Given the description of an element on the screen output the (x, y) to click on. 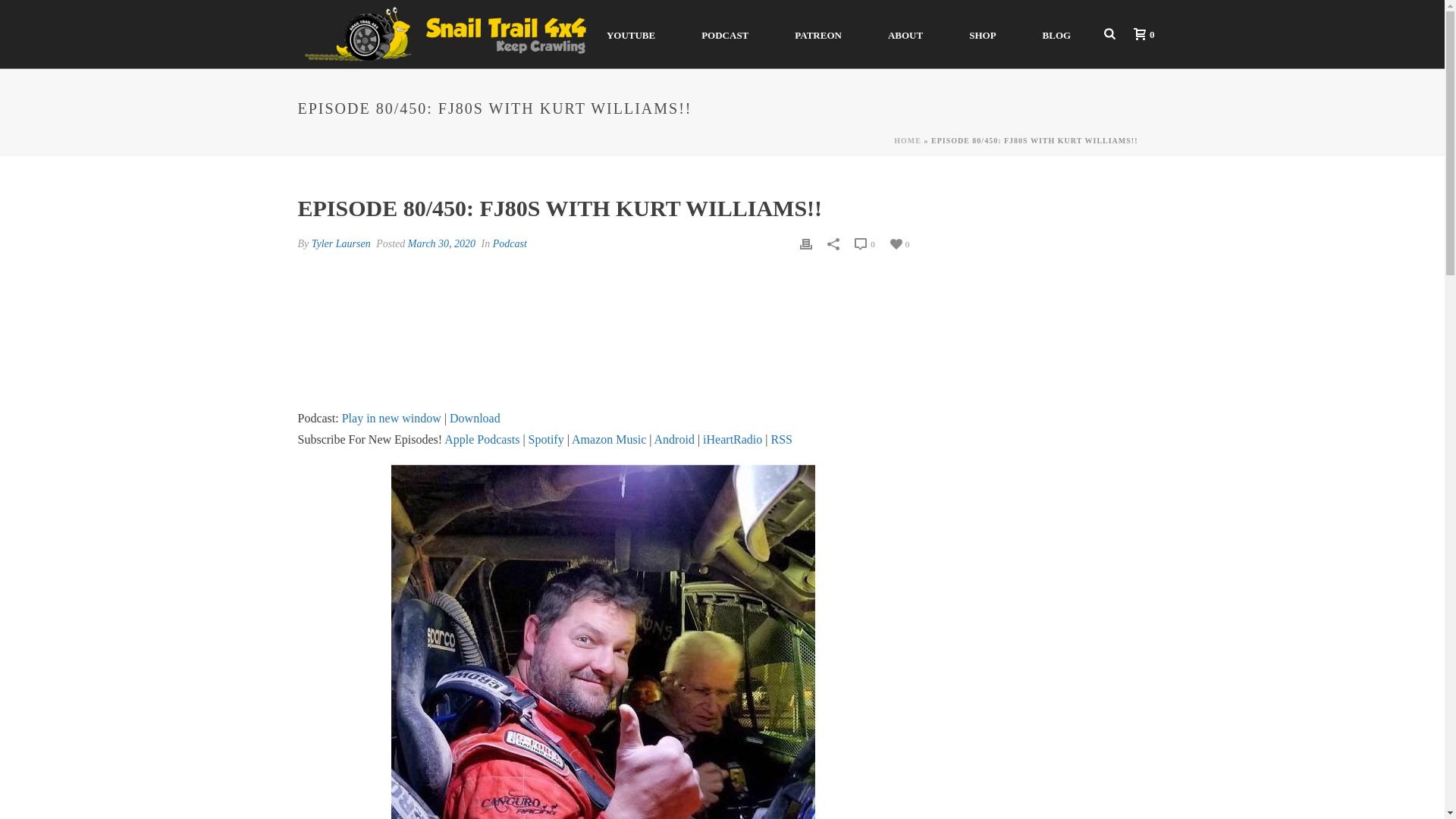
Play in new window (391, 418)
ABOUT (904, 33)
0 (1139, 33)
BLOG (1057, 33)
Download (474, 418)
Subscribe on Android (673, 439)
HOME (907, 140)
YOUTUBE (630, 33)
Blubrry Podcast Player (602, 339)
Subscribe on Amazon Music (609, 439)
Tyler Laursen (341, 243)
Podcast (510, 243)
Apple Podcasts (481, 439)
Subscribe on iHeartRadio (732, 439)
PATREON (817, 33)
